Given the description of an element on the screen output the (x, y) to click on. 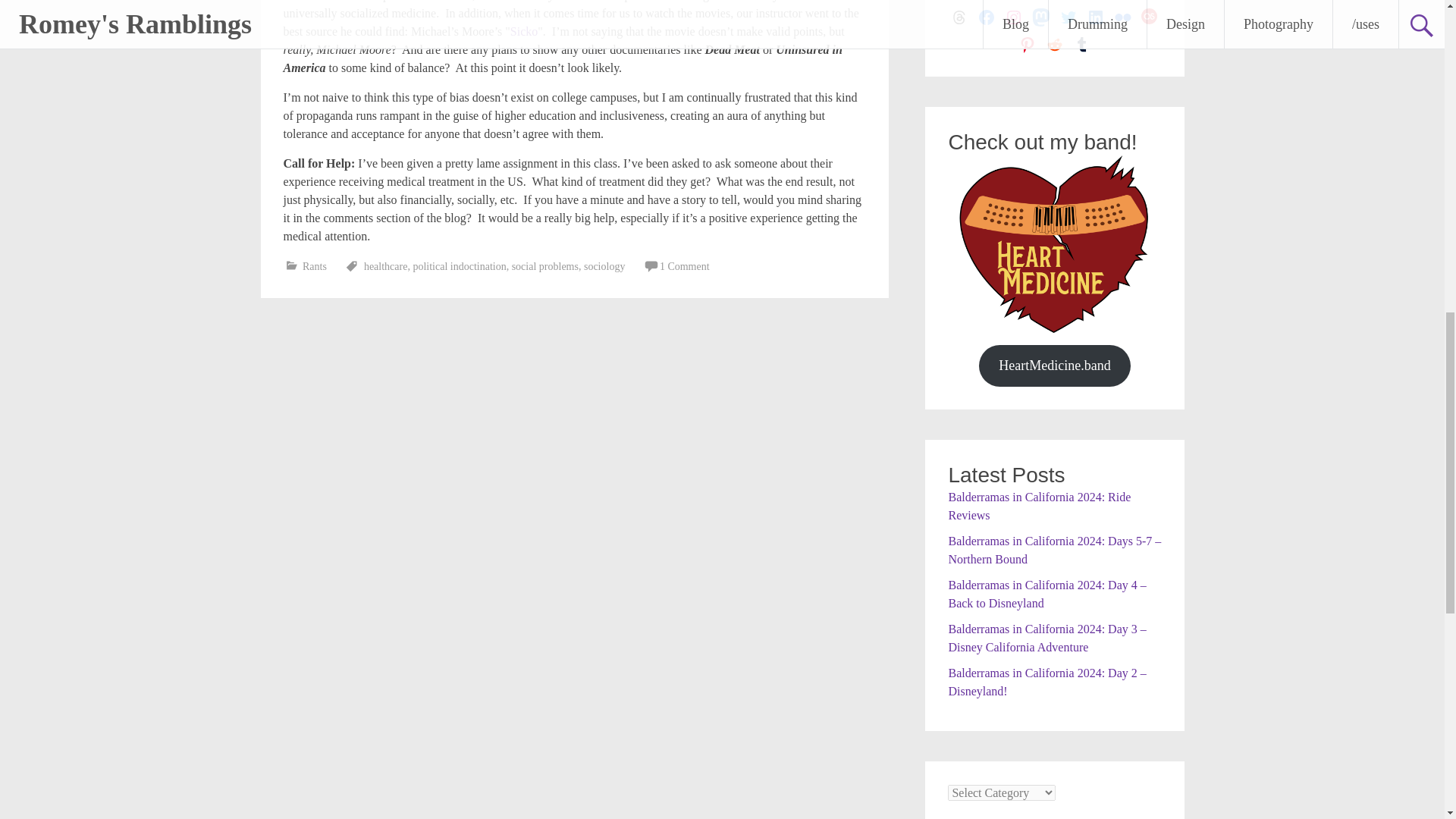
Facebook (985, 17)
Mastodon (1040, 17)
1 Comment (692, 266)
Sicko (524, 31)
Instagram (1013, 17)
Flickr (1122, 17)
Balderramas in California 2024: Ride Reviews (1039, 505)
Threads (959, 17)
sociology (603, 266)
Twitter (1068, 17)
Pinterest (1026, 45)
LinkedIn (1095, 17)
healthcare (385, 266)
Tumblr (1081, 45)
Last.fm (1149, 17)
